Given the description of an element on the screen output the (x, y) to click on. 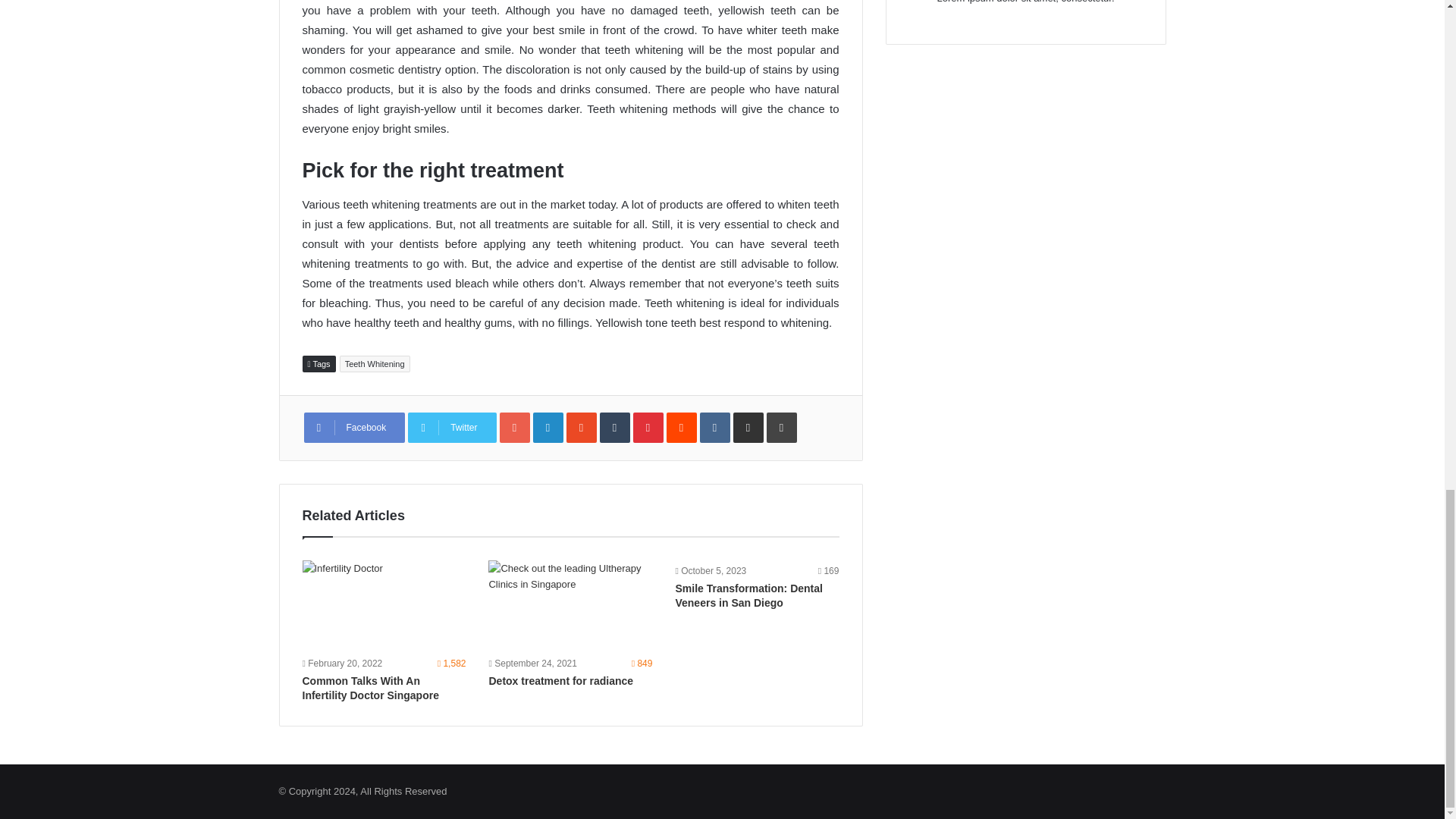
Teeth Whitening (374, 363)
Facebook (353, 427)
Print (781, 427)
Twitter (451, 427)
Common Talks With An Infertility Doctor Singapore (383, 606)
Share via Email (747, 427)
Pinterest (648, 427)
VKontakte (715, 427)
LinkedIn (547, 427)
StumbleUpon (581, 427)
